Given the description of an element on the screen output the (x, y) to click on. 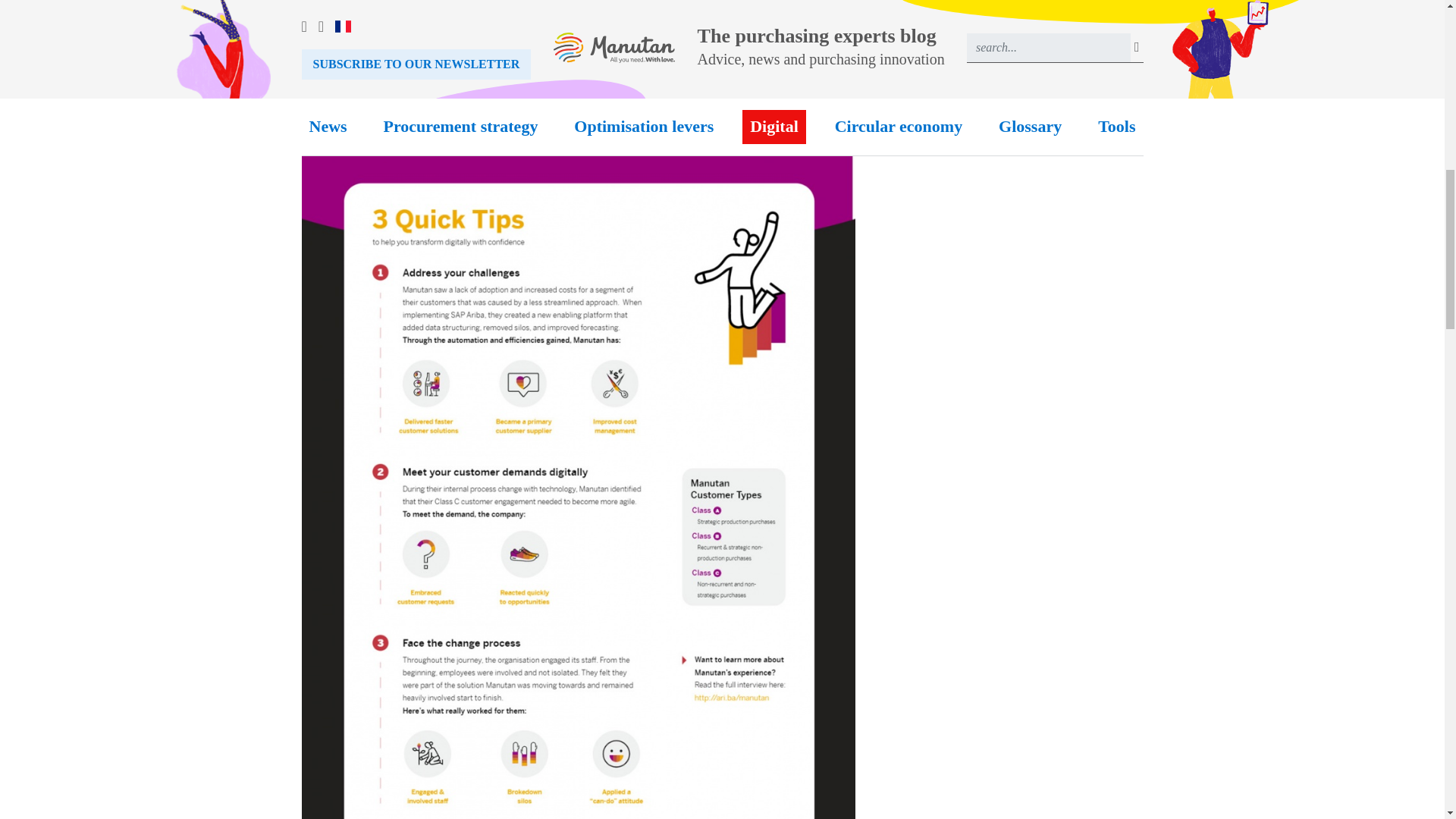
Follow us on LinkedIn (1010, 37)
